Given the description of an element on the screen output the (x, y) to click on. 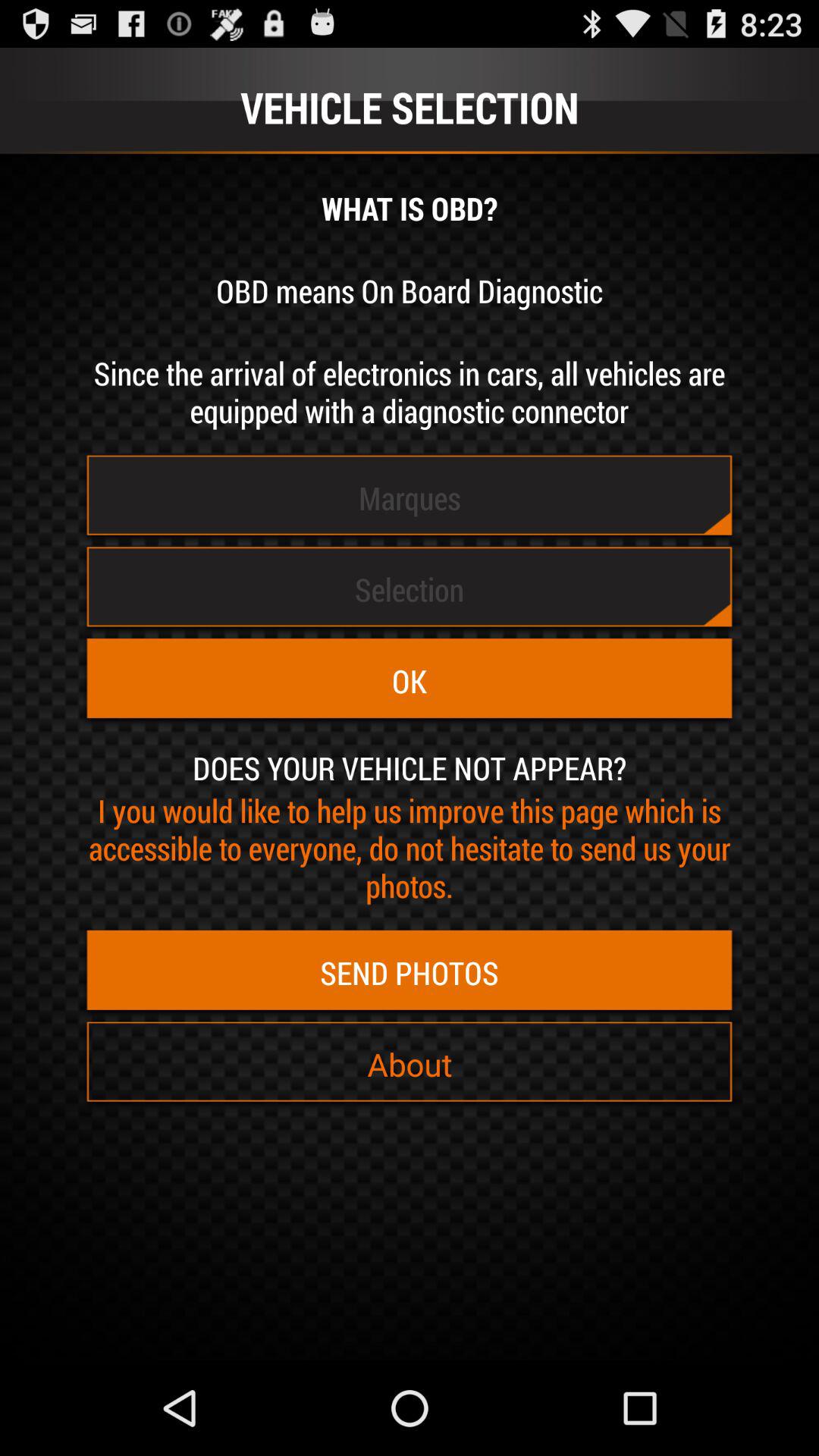
jump until ok button (409, 680)
